Given the description of an element on the screen output the (x, y) to click on. 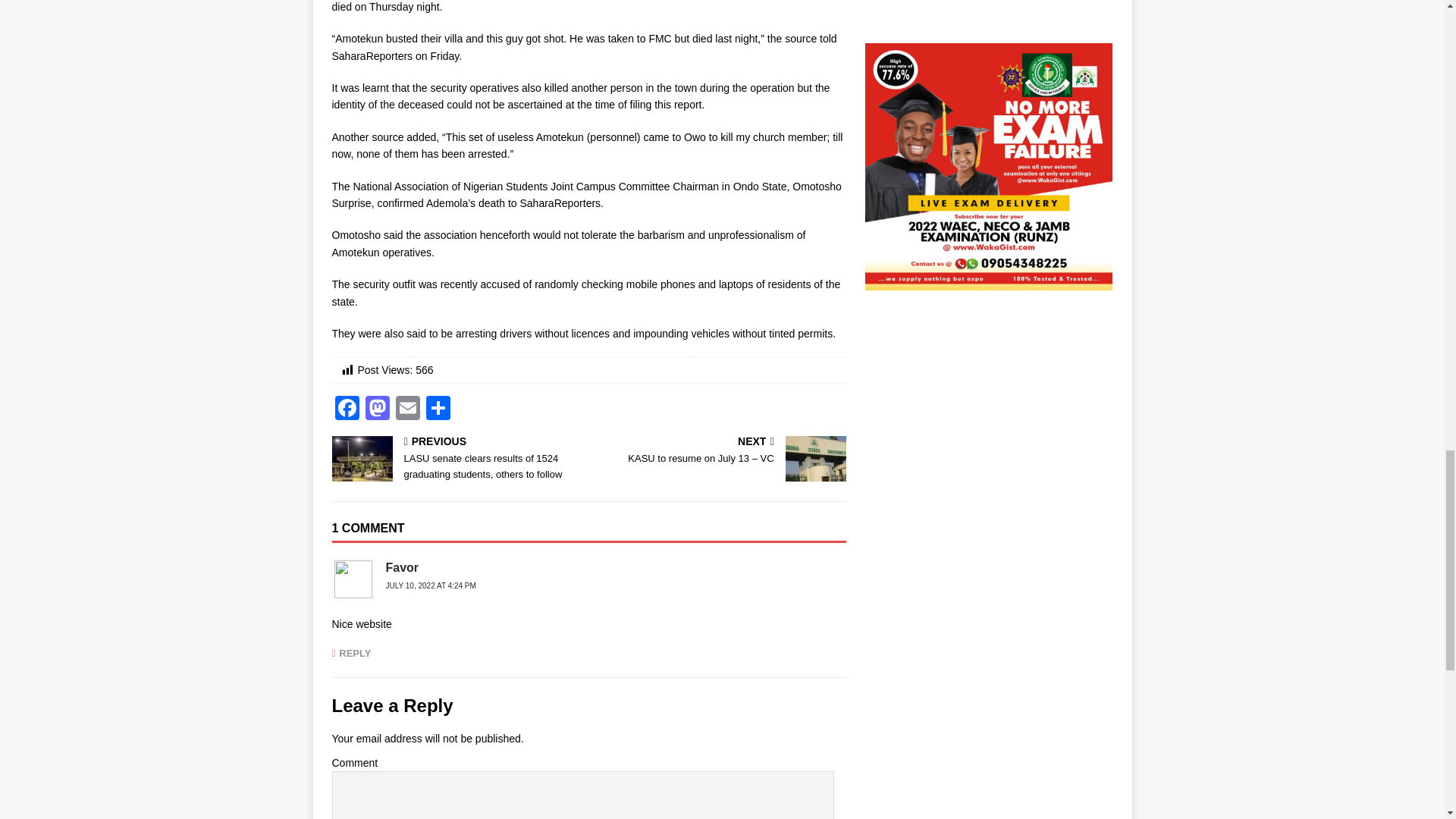
Facebook (346, 409)
Mastodon (377, 409)
JULY 10, 2022 AT 4:24 PM (430, 585)
Email (408, 409)
REPLY (351, 653)
